Given the description of an element on the screen output the (x, y) to click on. 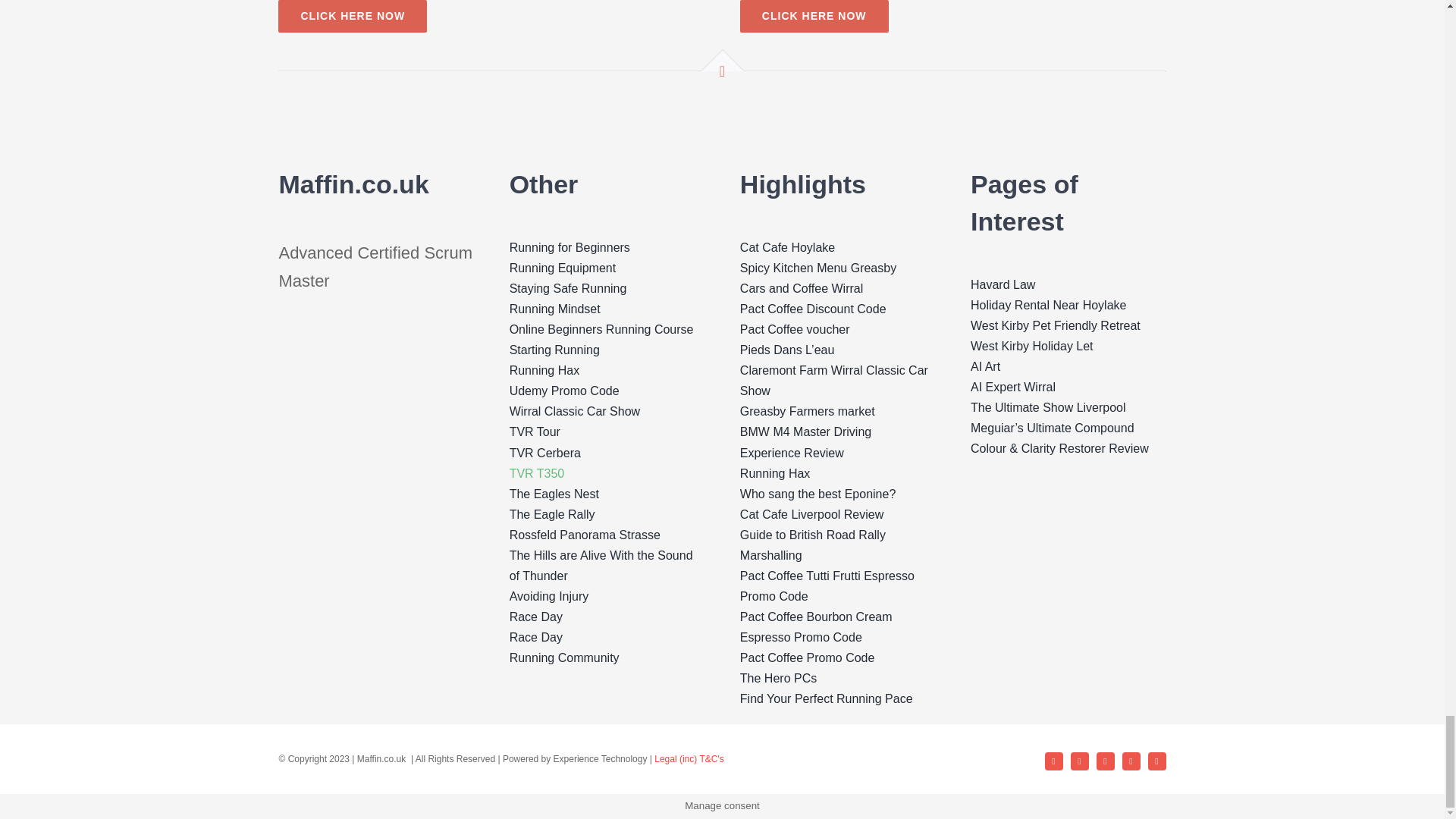
Instagram (1105, 761)
Flickr (1157, 761)
Twitter (1131, 761)
YouTube (1079, 761)
Facebook (1053, 761)
Ben Maffin Advanced Certified Scrum Master A-CSM (375, 409)
